Given the description of an element on the screen output the (x, y) to click on. 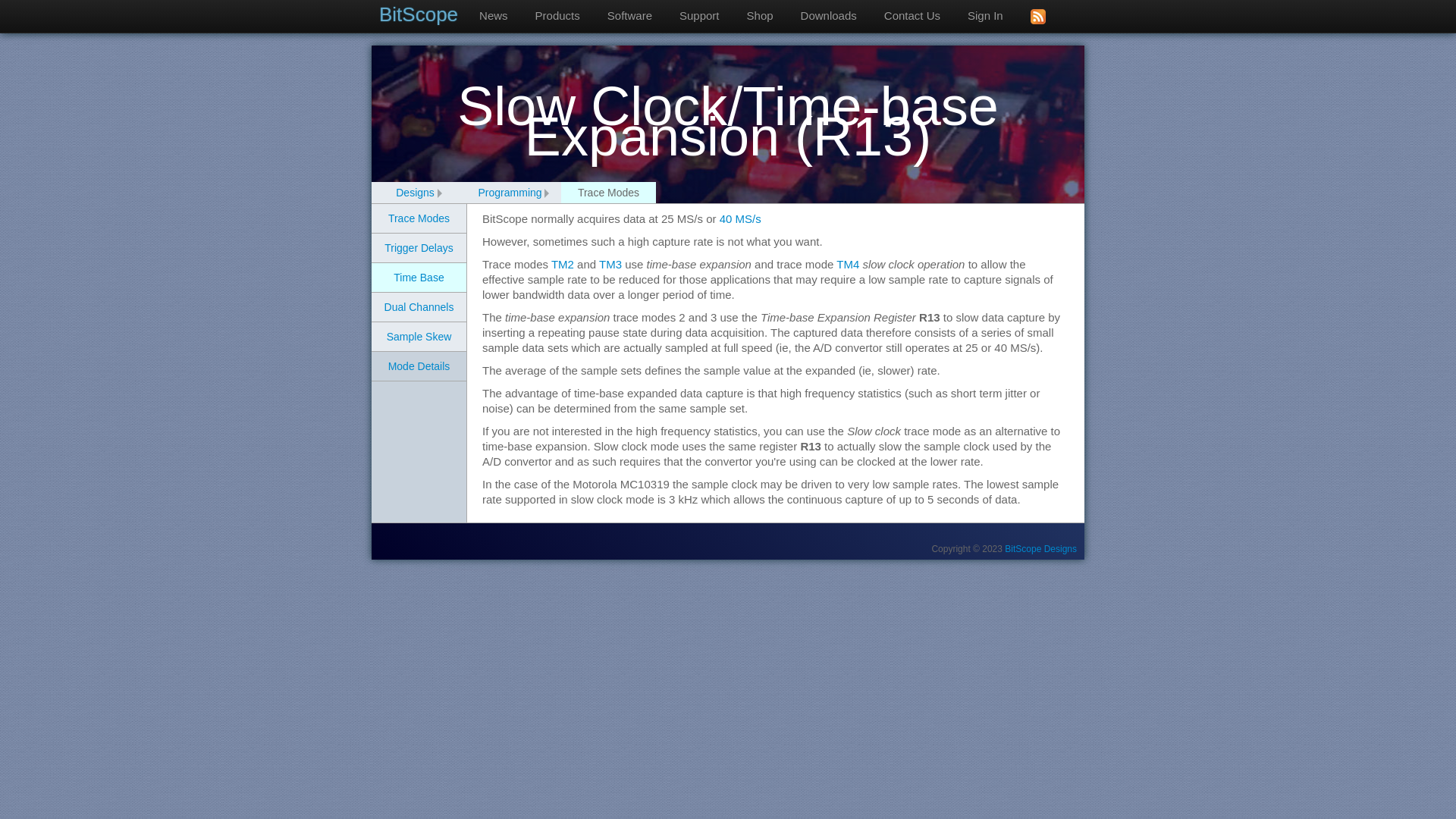
Support (699, 15)
Shop (760, 15)
TM4 (847, 264)
BitScope RSS Feed (1037, 16)
Programming (510, 192)
Contact Us (911, 15)
Sign In (984, 15)
BitScope Blogs. (493, 15)
BitScope (421, 14)
Downloads (828, 15)
Trace Modes (418, 218)
Trace Modes - how to capture your data. (418, 218)
Products (557, 15)
Software for BitScope. (629, 15)
Designs (414, 192)
